Given the description of an element on the screen output the (x, y) to click on. 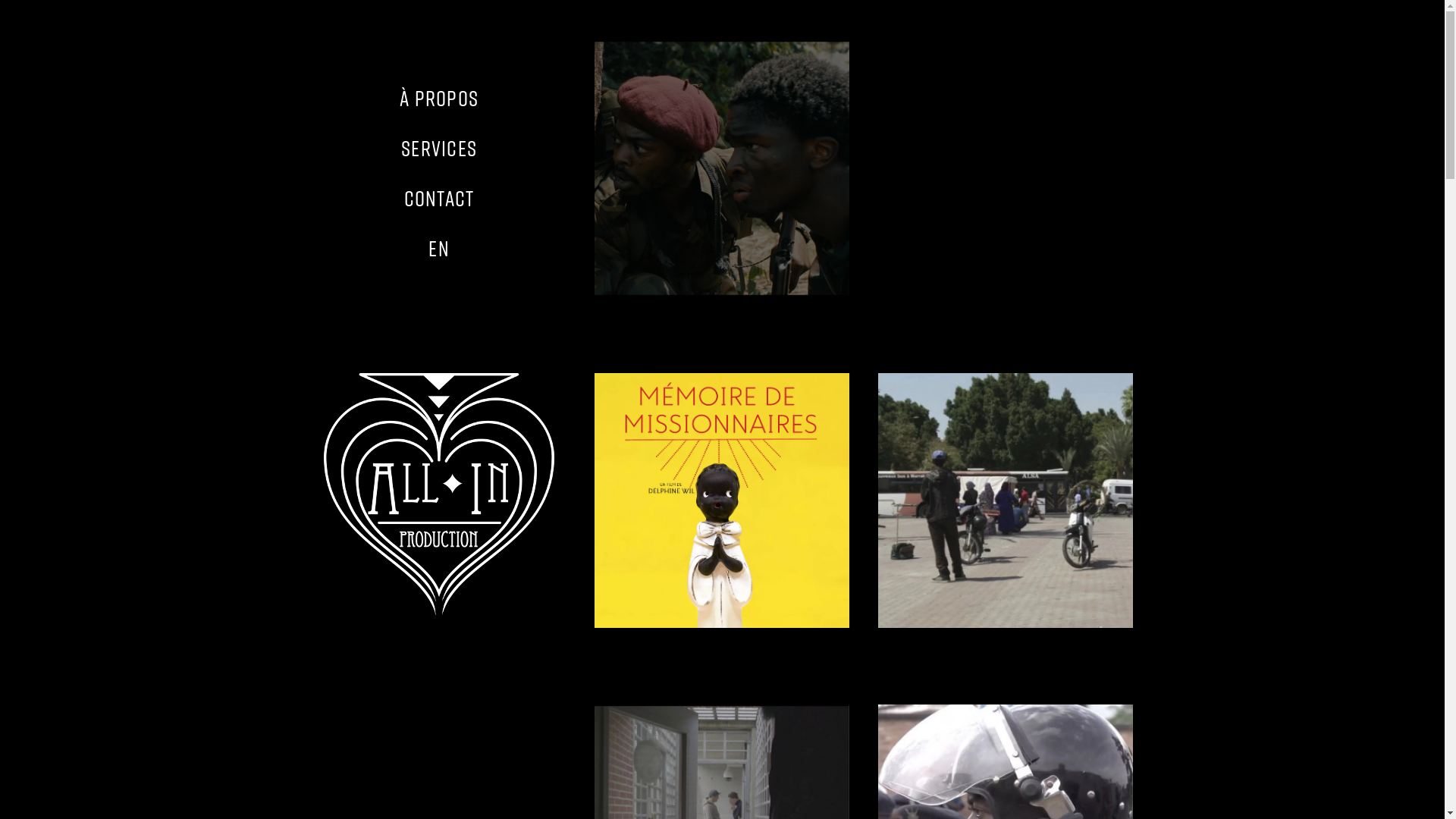
services Element type: text (438, 148)
EN Element type: text (438, 248)
contact Element type: text (438, 198)
